Given the description of an element on the screen output the (x, y) to click on. 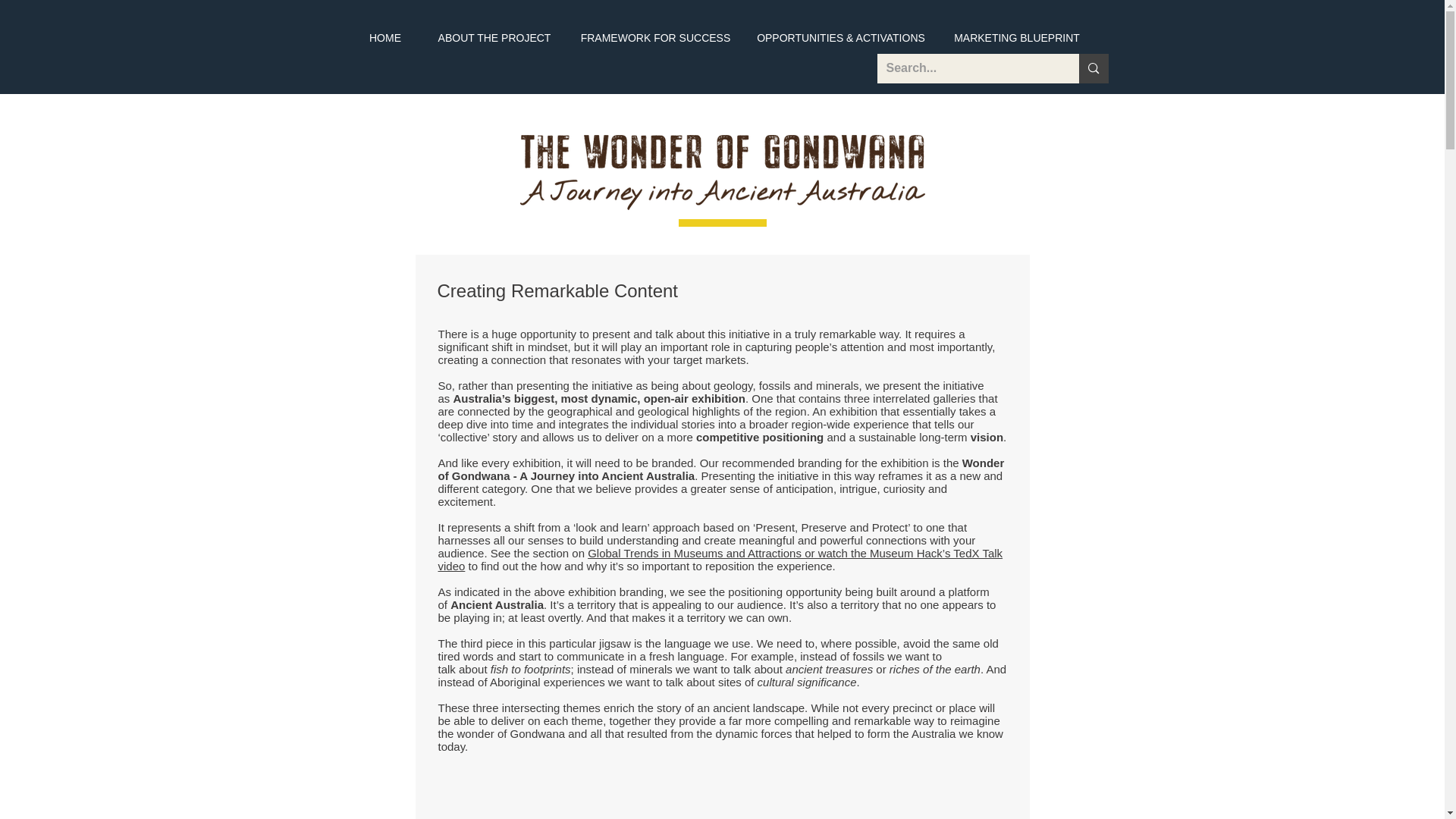
ABOUT THE PROJECT (494, 38)
HOME (384, 38)
MARKETING BLUEPRINT (1017, 38)
FRAMEWORK FOR SUCCESS (654, 38)
